Given the description of an element on the screen output the (x, y) to click on. 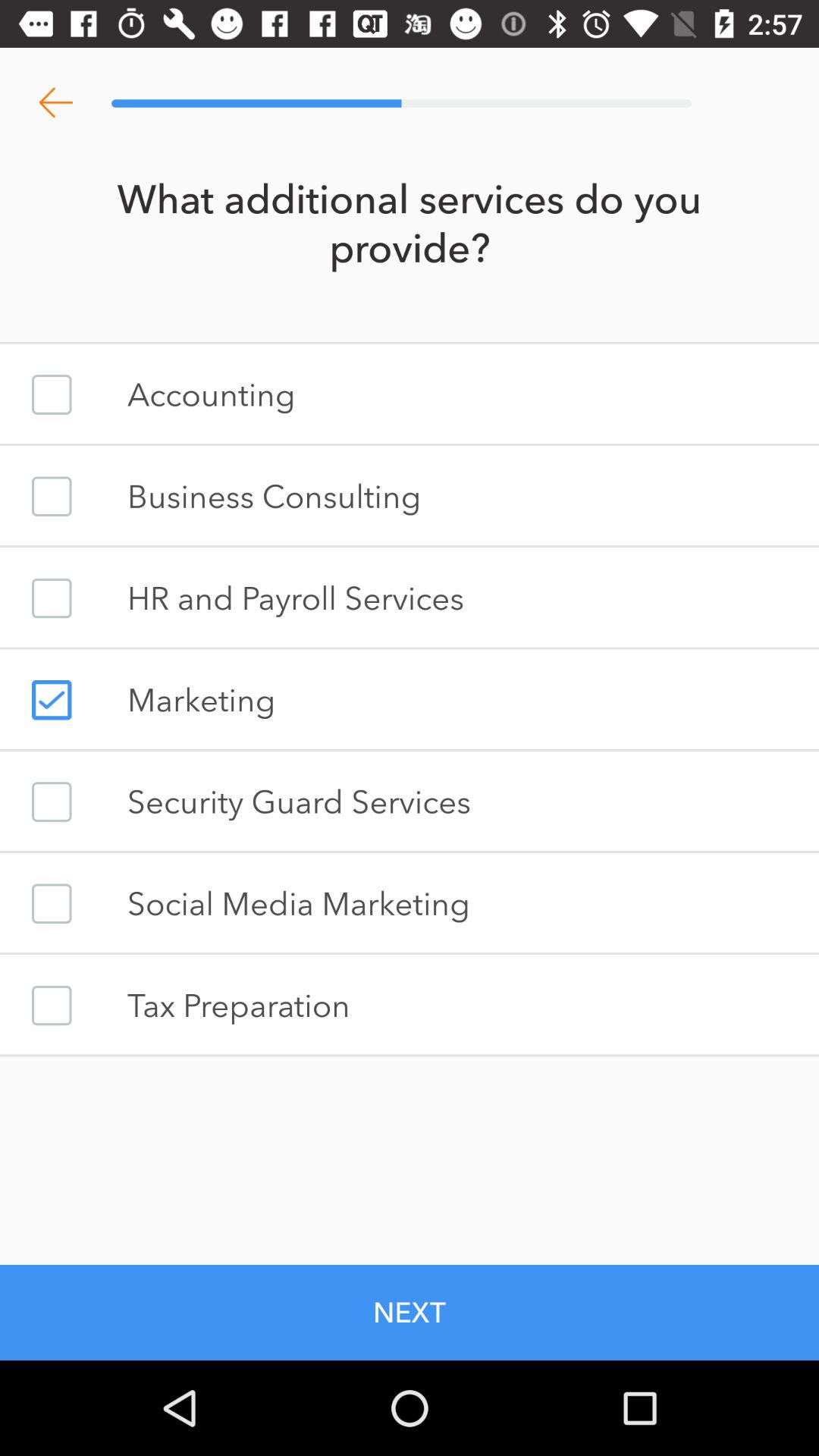
checkbox to select service (51, 598)
